Given the description of an element on the screen output the (x, y) to click on. 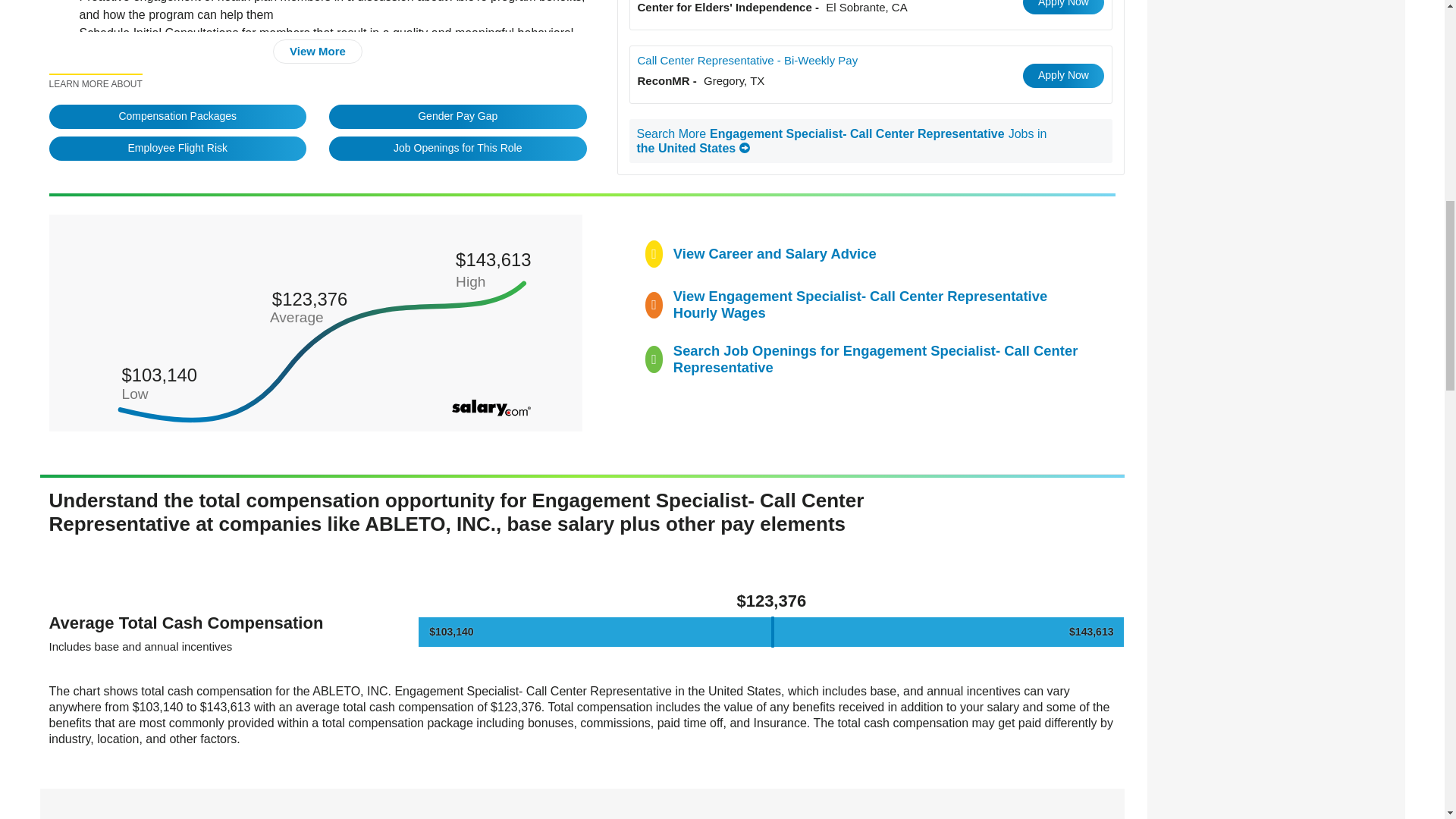
Gender Pay Gap (457, 116)
Advertisement (1275, 79)
Job Openings for This Role (457, 148)
View More (317, 51)
Compensation Packages (176, 116)
Employee Flight Risk (176, 148)
